Given the description of an element on the screen output the (x, y) to click on. 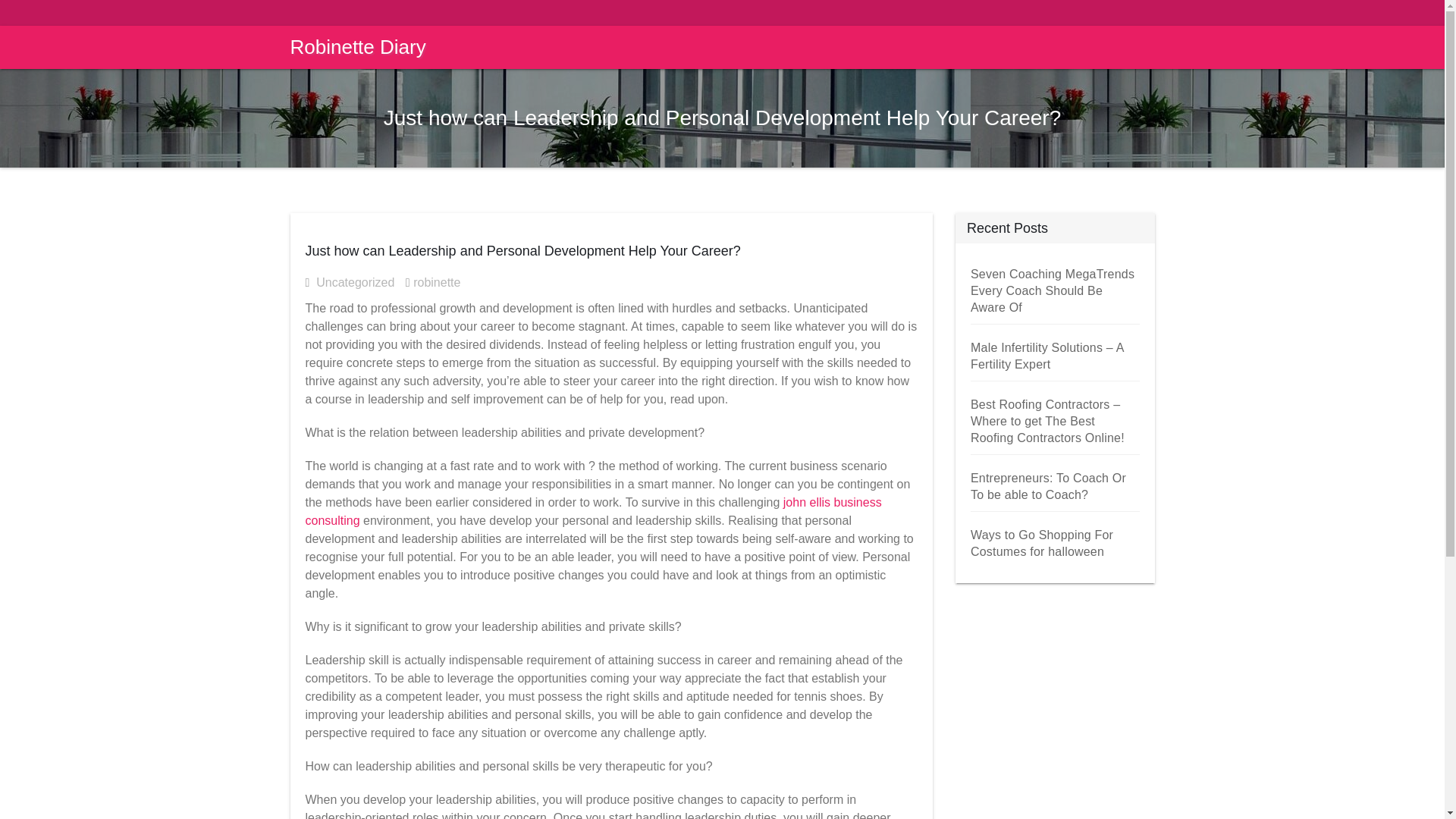
Robinette Diary (352, 46)
Ways to Go Shopping For Costumes for halloween (1042, 542)
robinette (437, 282)
Entrepreneurs: To Coach Or To be able to Coach? (1048, 486)
Uncategorized (358, 282)
john ellis business consulting (592, 511)
Seven Coaching MegaTrends Every Coach Should Be Aware Of (1052, 290)
